Given the description of an element on the screen output the (x, y) to click on. 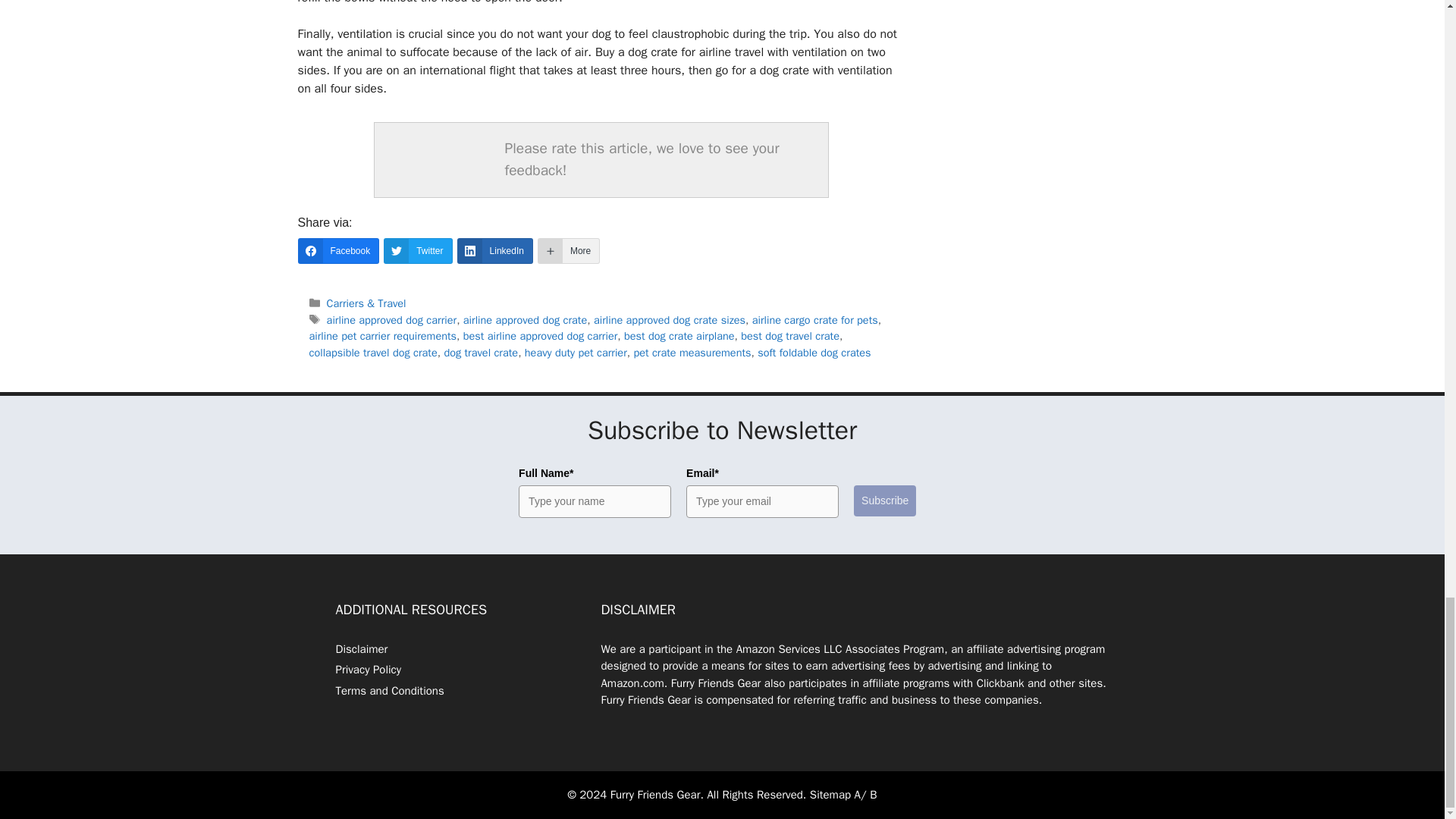
More (568, 250)
best dog travel crate (790, 336)
LinkedIn (494, 250)
best airline approved dog carrier (540, 336)
airline cargo crate for pets (814, 319)
airline approved dog crate (524, 319)
dog travel crate (481, 352)
heavy duty pet carrier (575, 352)
pet crate measurements (692, 352)
Twitter (417, 250)
